Given the description of an element on the screen output the (x, y) to click on. 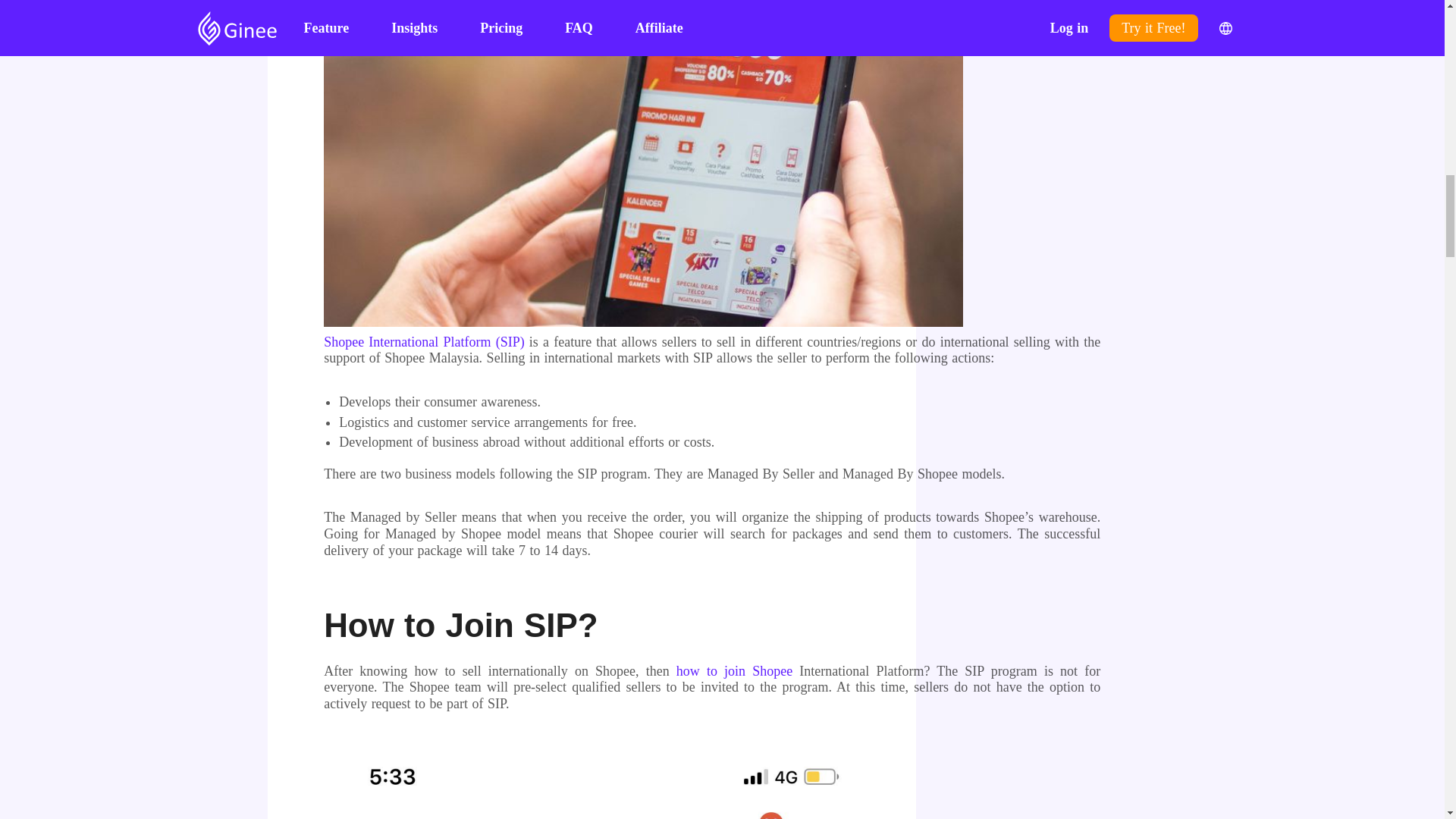
how to join Shopee (734, 670)
